Given the description of an element on the screen output the (x, y) to click on. 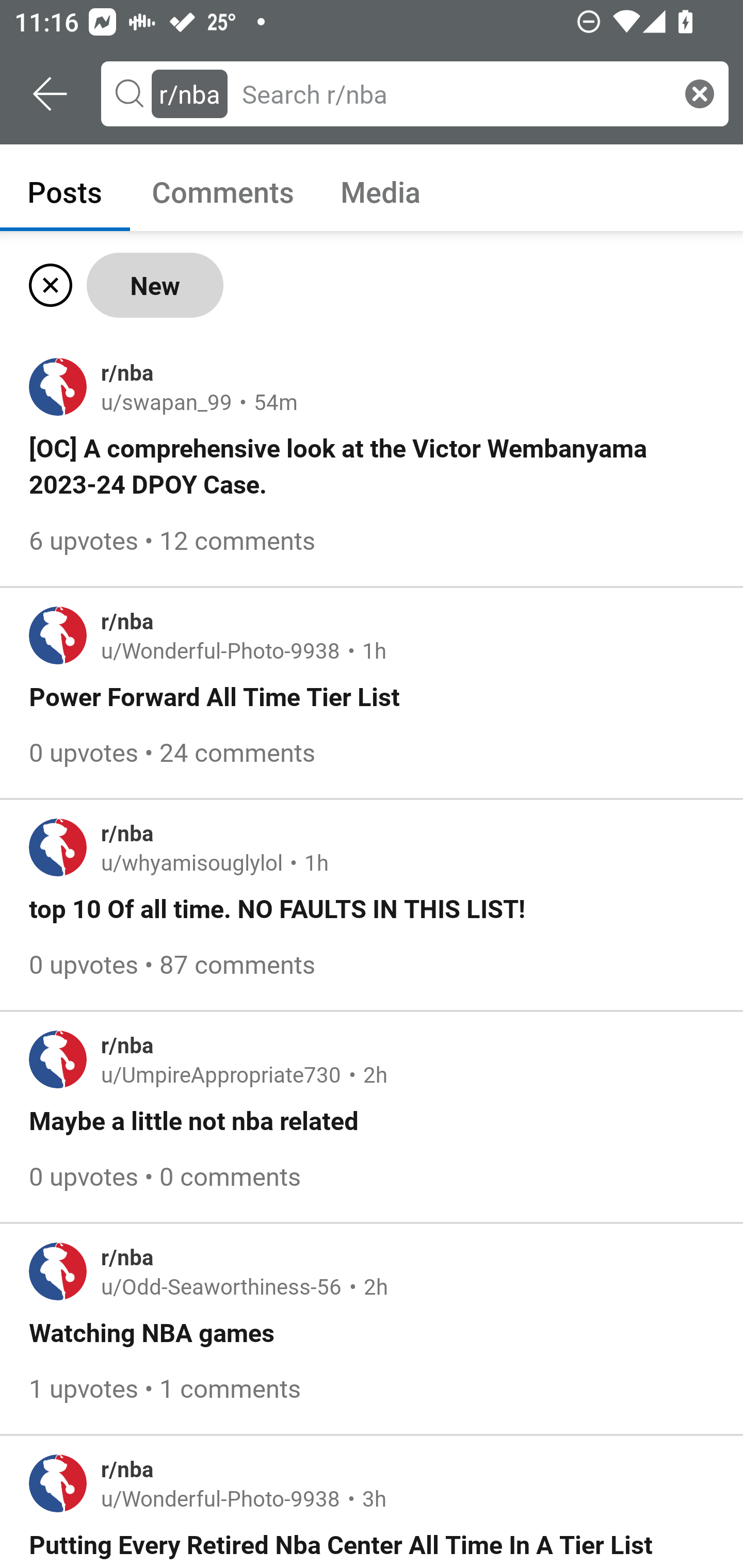
Back (50, 93)
Search r/nba (452, 93)
Clear search (699, 93)
r/nba (189, 92)
Comments (222, 191)
Media (380, 191)
Clear active filters (46, 285)
New Sort by New (154, 285)
